Given the description of an element on the screen output the (x, y) to click on. 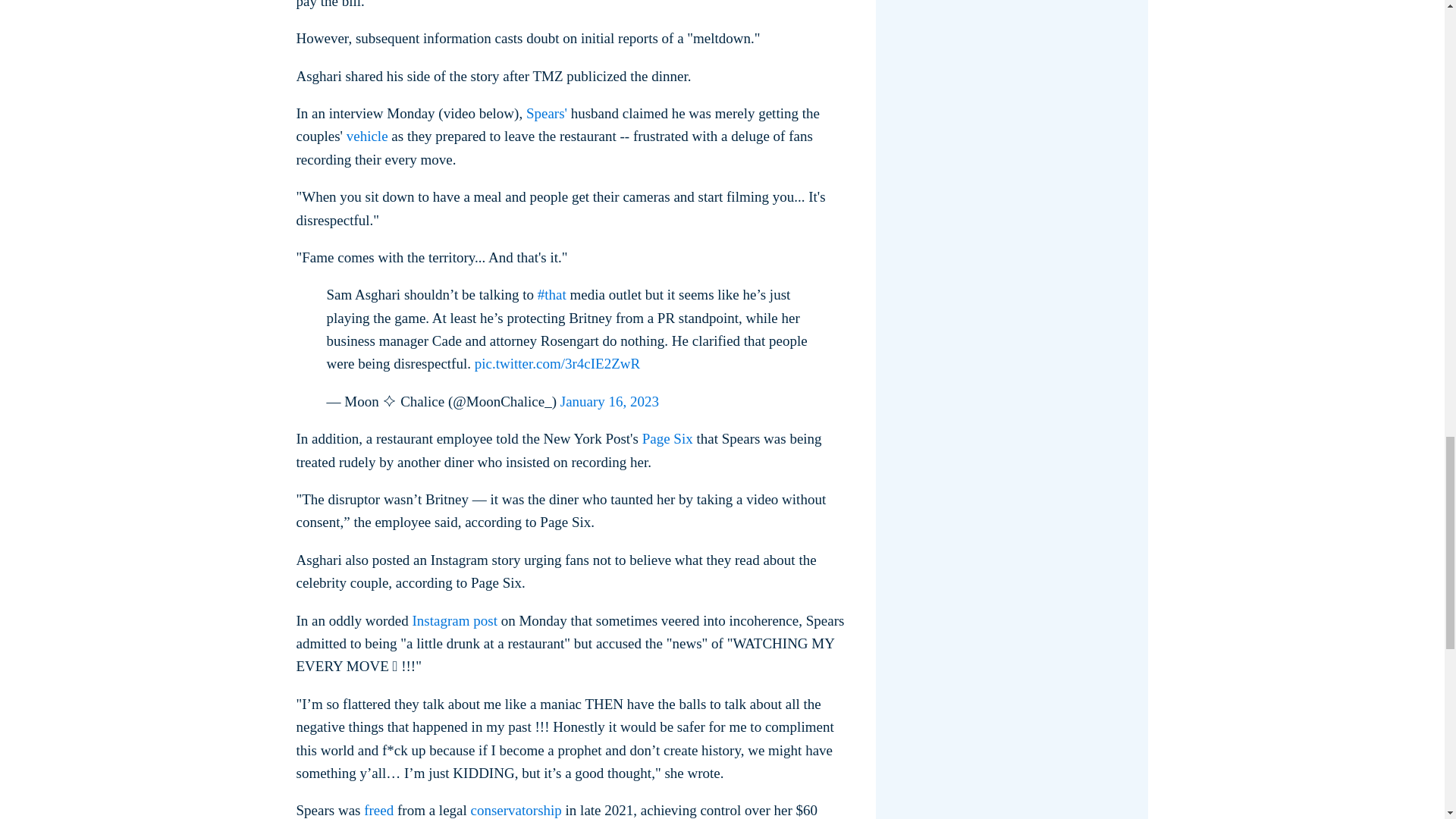
conservatorship (516, 810)
vehicle (367, 135)
freed (378, 810)
Instagram post (454, 620)
January 16, 2023 (609, 401)
Page Six (667, 438)
Spears' (546, 113)
